Given the description of an element on the screen output the (x, y) to click on. 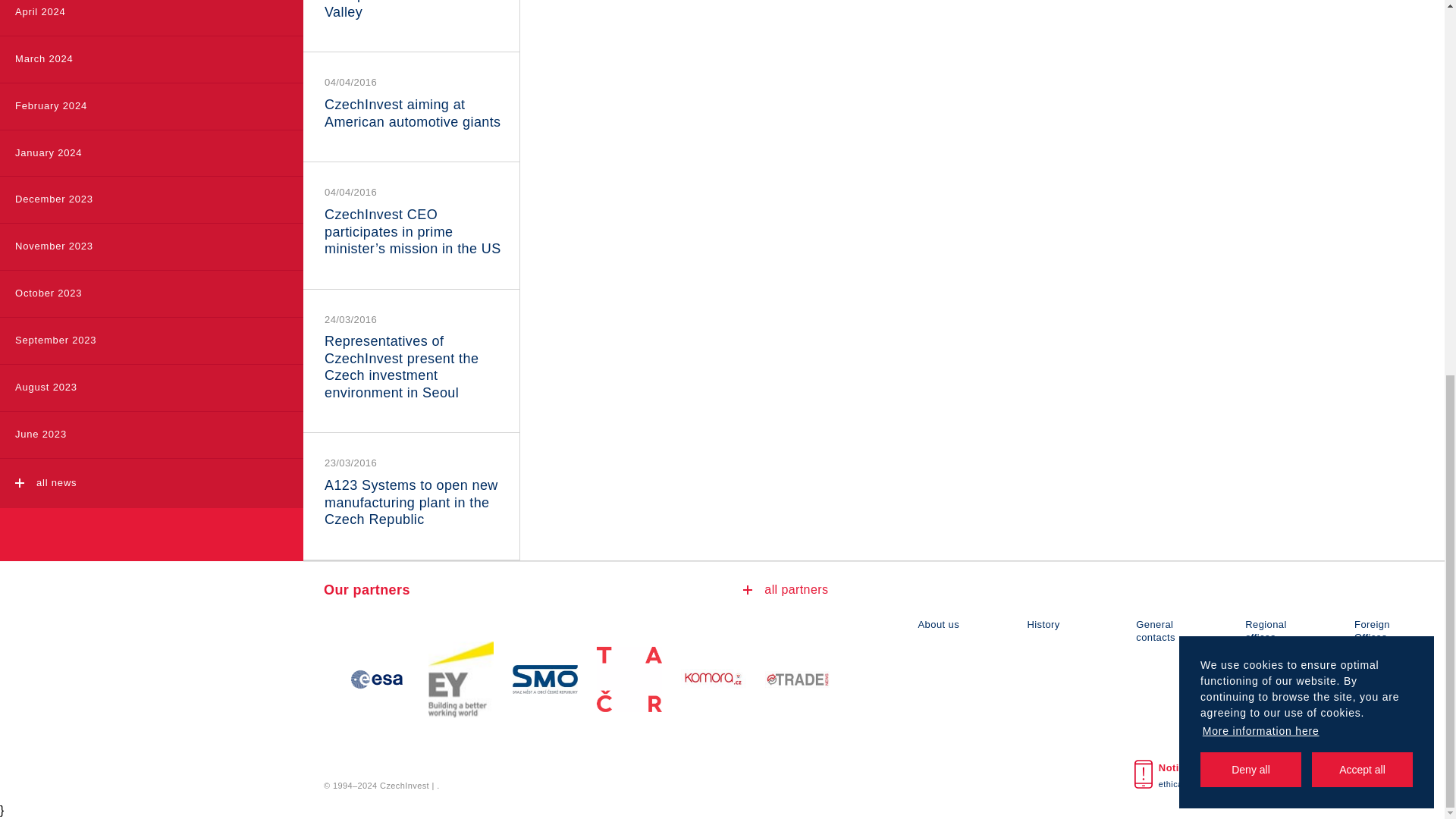
Deny all (1250, 80)
Accept all (1361, 80)
